Given the description of an element on the screen output the (x, y) to click on. 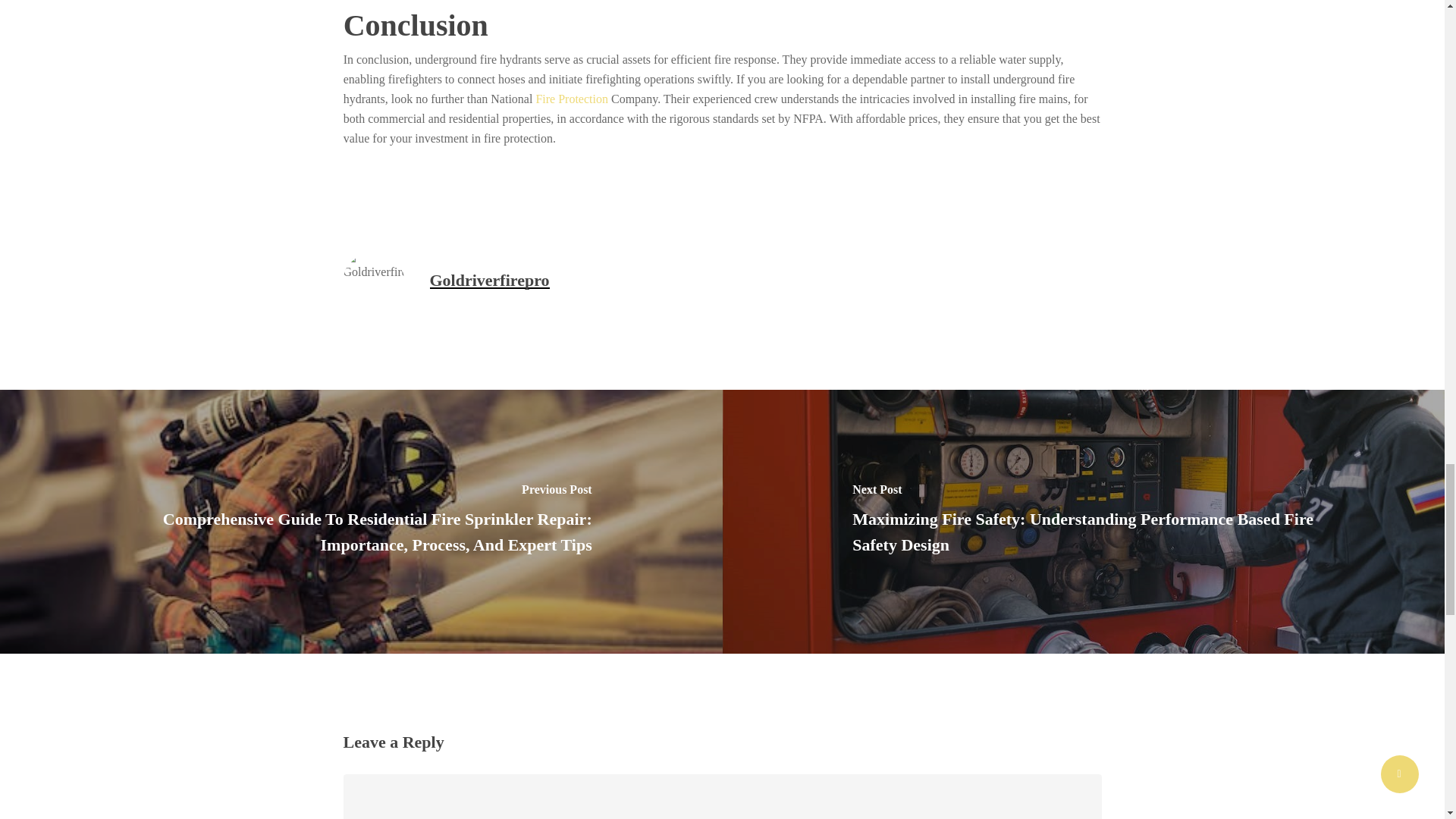
Goldriverfirepro (488, 280)
Fire Protection (571, 98)
